Given the description of an element on the screen output the (x, y) to click on. 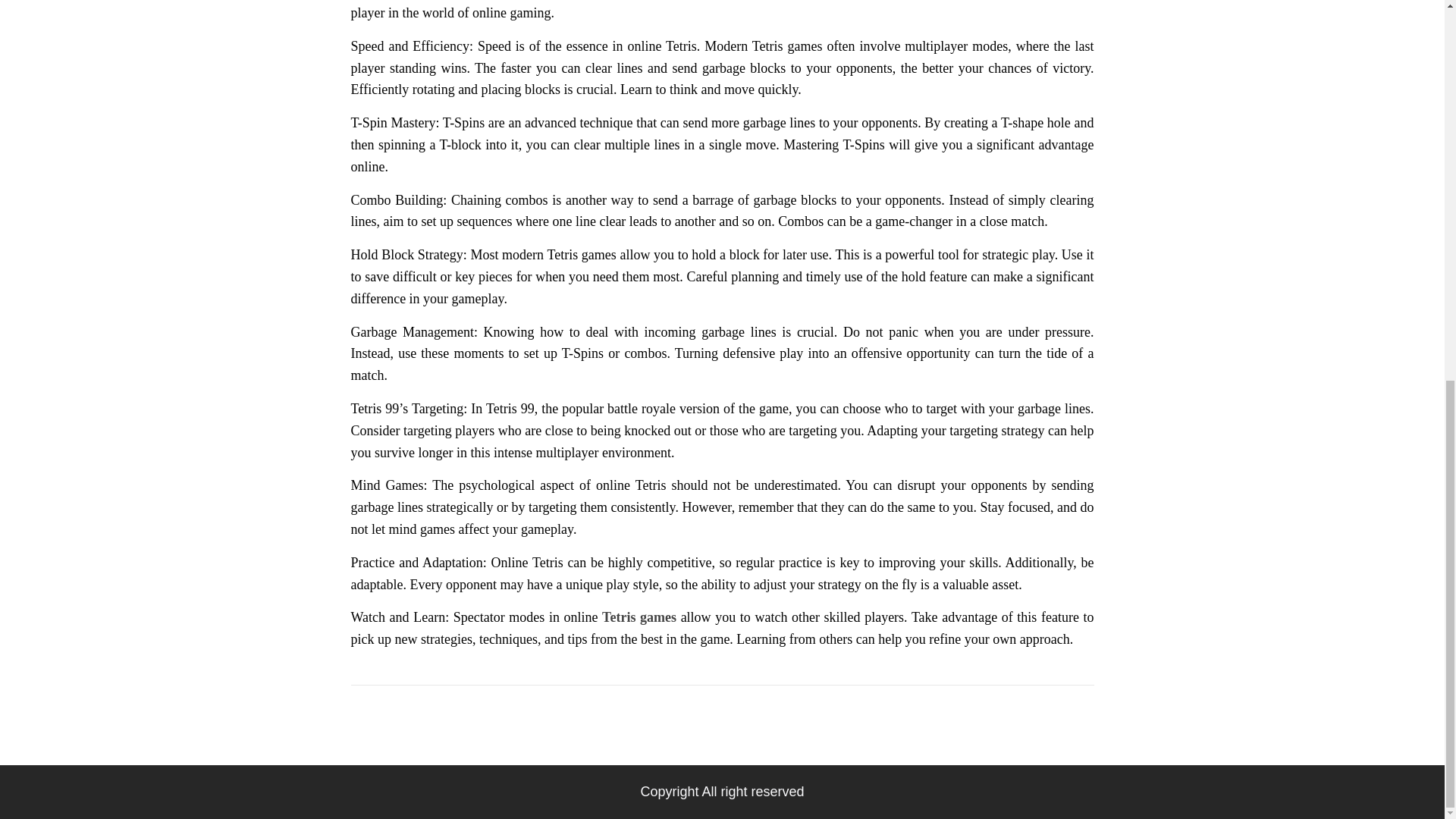
Tetris games (639, 616)
